Given the description of an element on the screen output the (x, y) to click on. 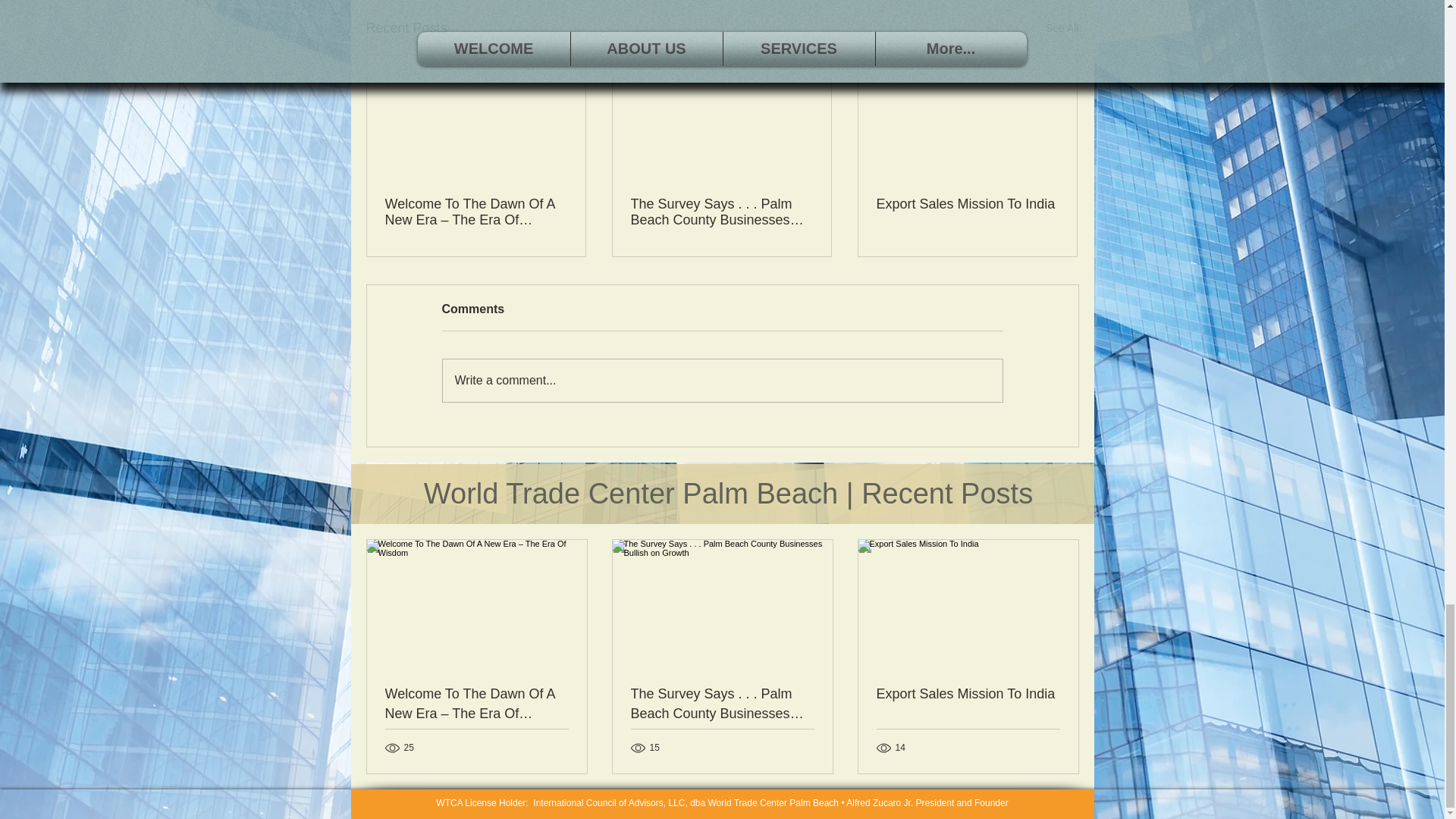
Write a comment... (722, 380)
Export Sales Mission To India (967, 204)
See All (1061, 28)
Export Sales Mission To India (967, 693)
